Given the description of an element on the screen output the (x, y) to click on. 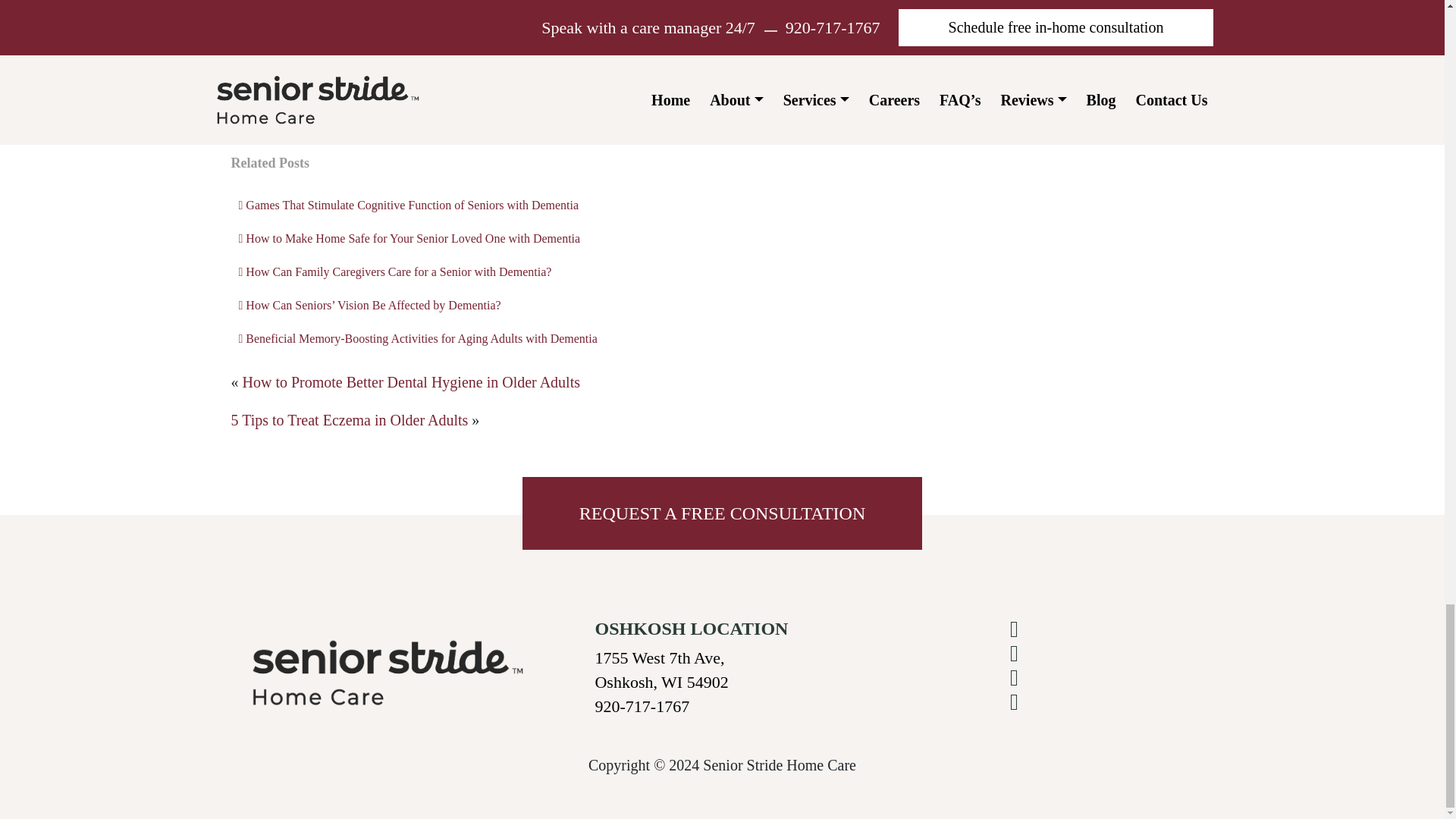
How to Promote Better Dental Hygiene in Older Adults (411, 381)
How Can Family Caregivers Care for a Senior with Dementia? (562, 271)
How Can Family Caregivers Care for a Senior with Dementia? (562, 271)
5 Tips to Treat Eczema in Older Adults (348, 419)
